Given the description of an element on the screen output the (x, y) to click on. 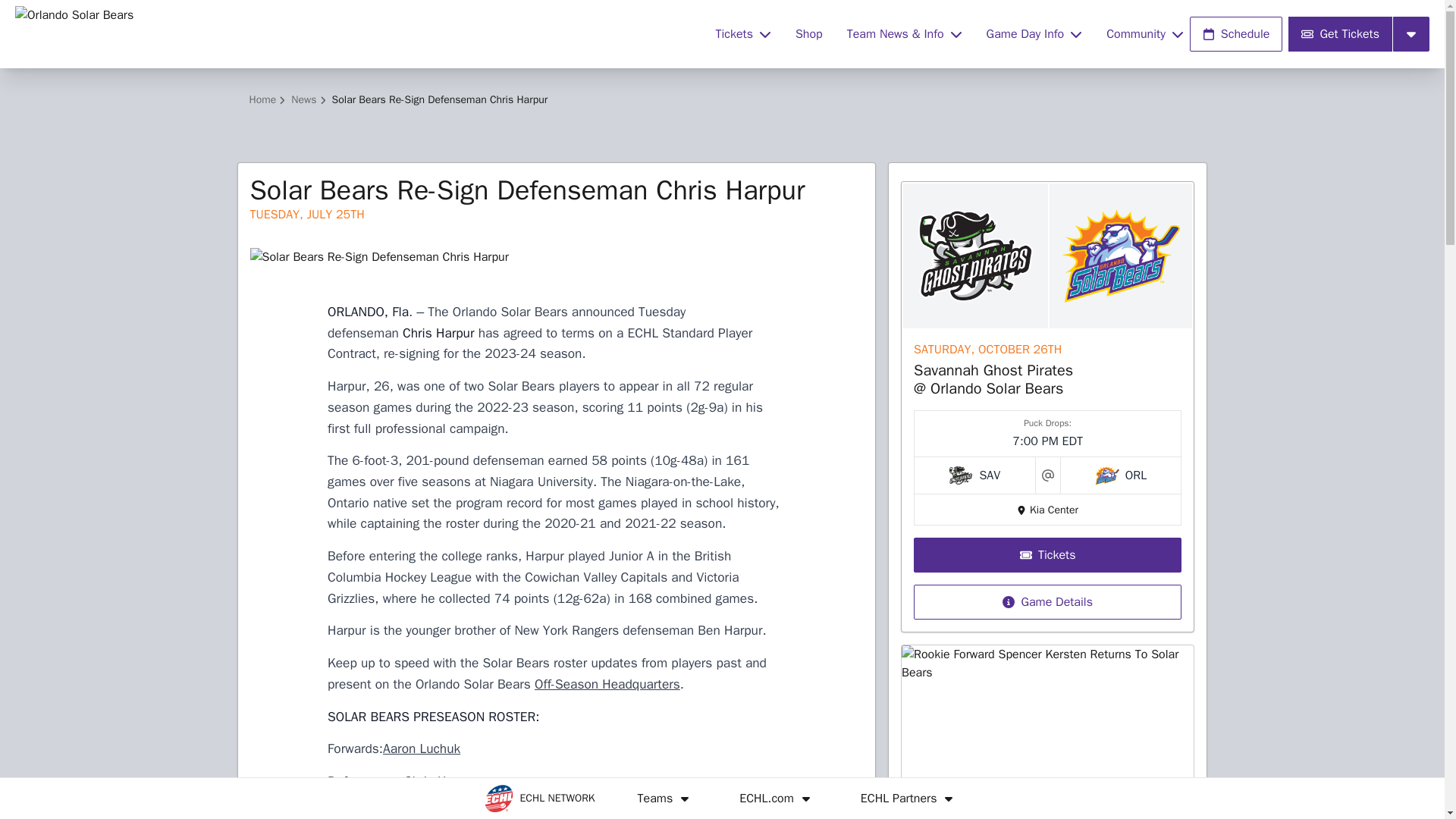
Shop (808, 33)
Tickets (743, 33)
Game Day Info (1034, 33)
Community (1144, 33)
Orlando Solar Bears (355, 33)
